Given the description of an element on the screen output the (x, y) to click on. 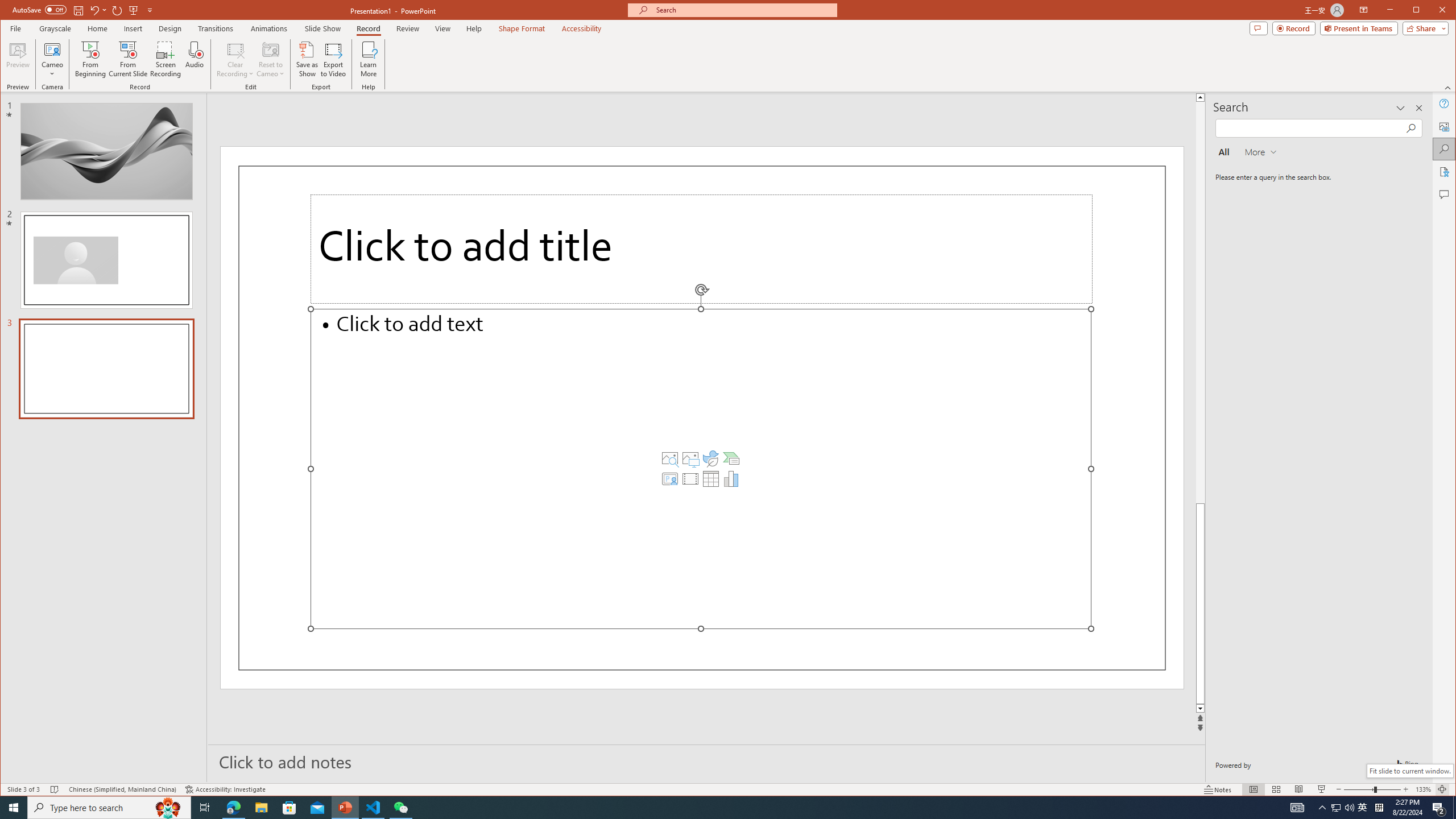
Zoom 133% (1422, 789)
Fit slide to current window. (1410, 771)
